Given the description of an element on the screen output the (x, y) to click on. 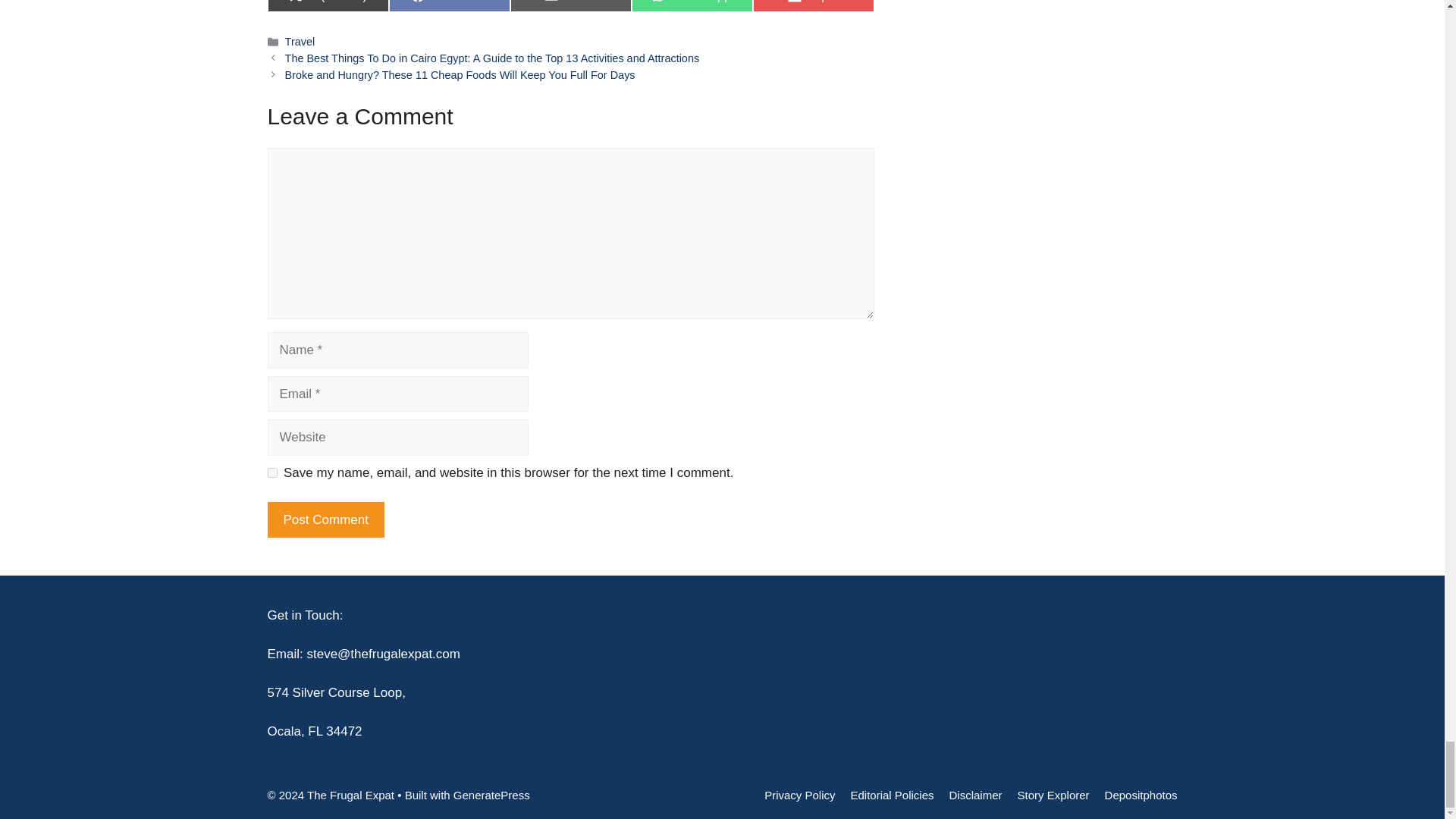
Post Comment (325, 520)
Post Comment (448, 6)
Travel (569, 6)
yes (325, 520)
